Given the description of an element on the screen output the (x, y) to click on. 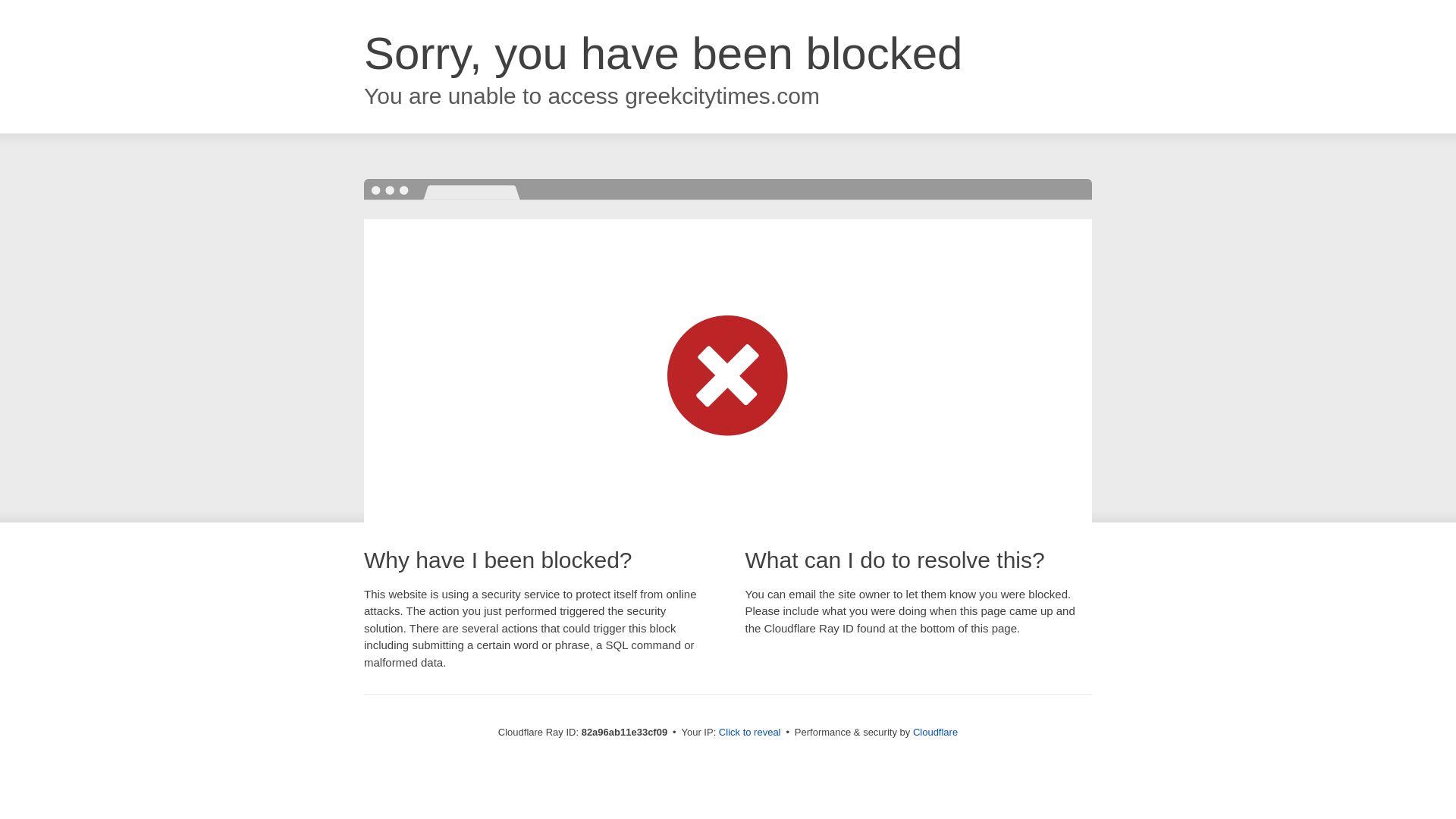
Click to reveal Element type: text (749, 732)
Cloudflare Element type: text (935, 731)
